Given the description of an element on the screen output the (x, y) to click on. 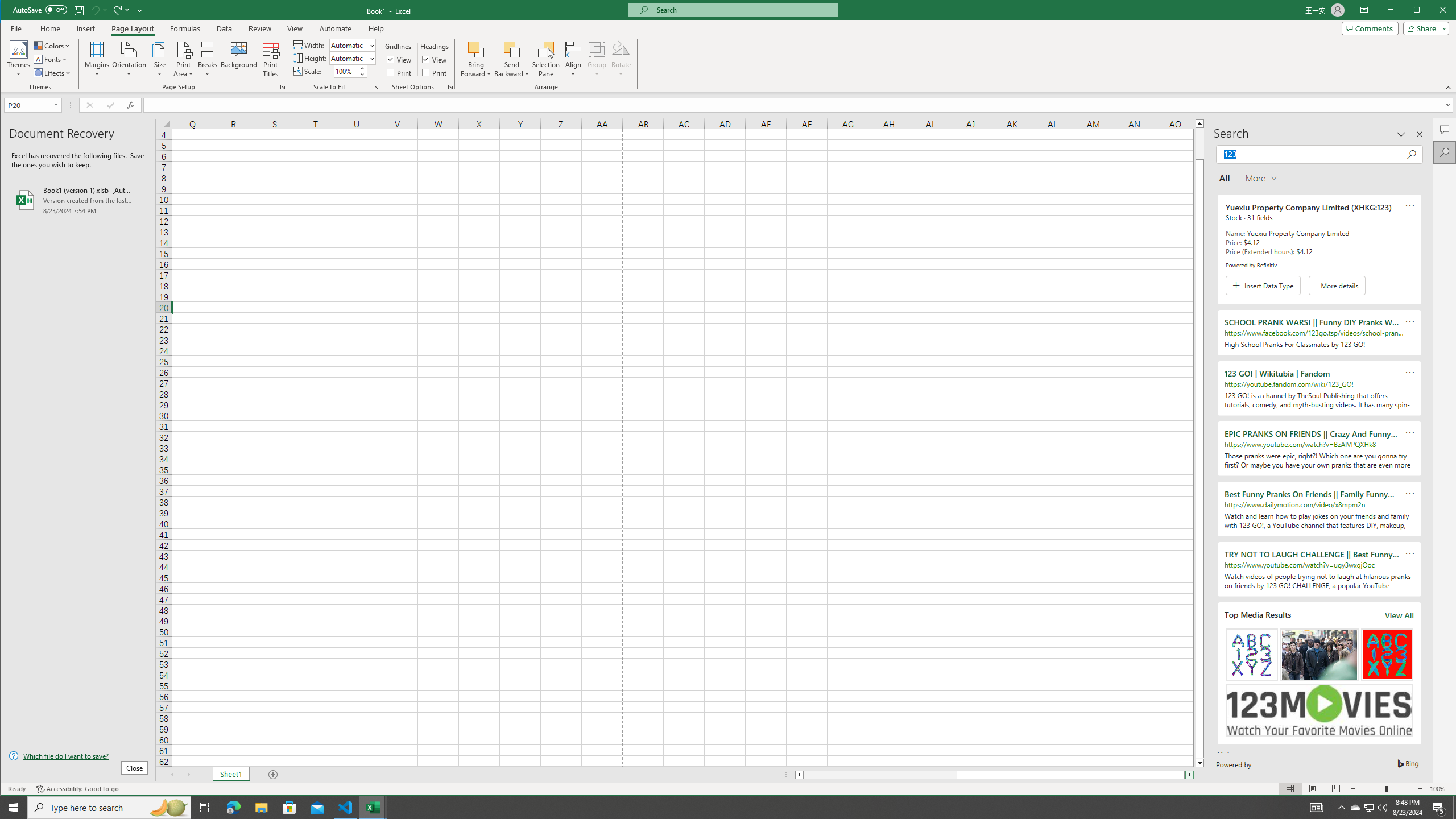
Open (56, 105)
Data (224, 28)
Line down (1199, 763)
Minimize (1419, 11)
Print Area (183, 59)
